Given the description of an element on the screen output the (x, y) to click on. 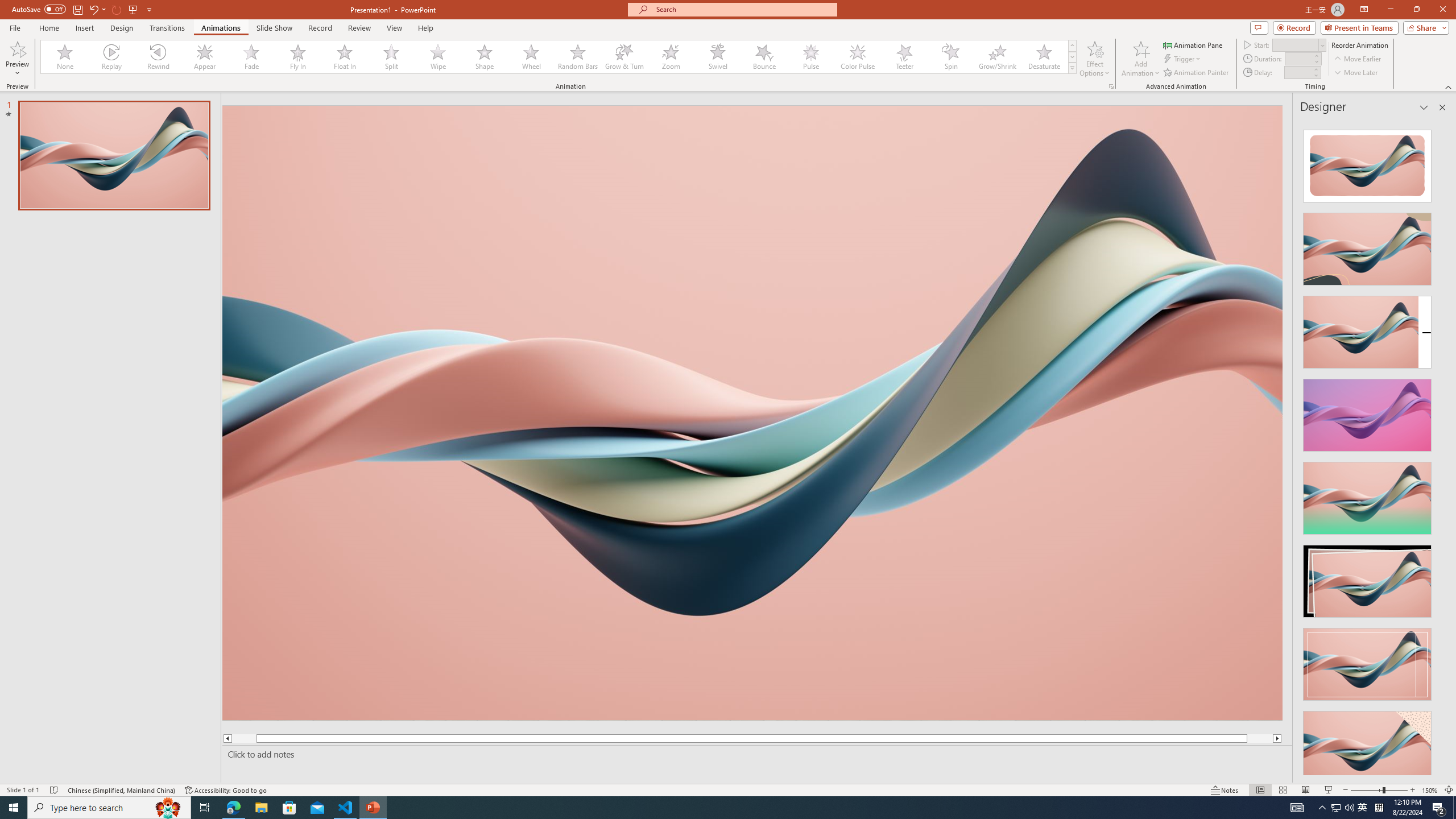
Animation Delay (1297, 72)
Zoom 150% (1430, 790)
Float In (344, 56)
